Given the description of an element on the screen output the (x, y) to click on. 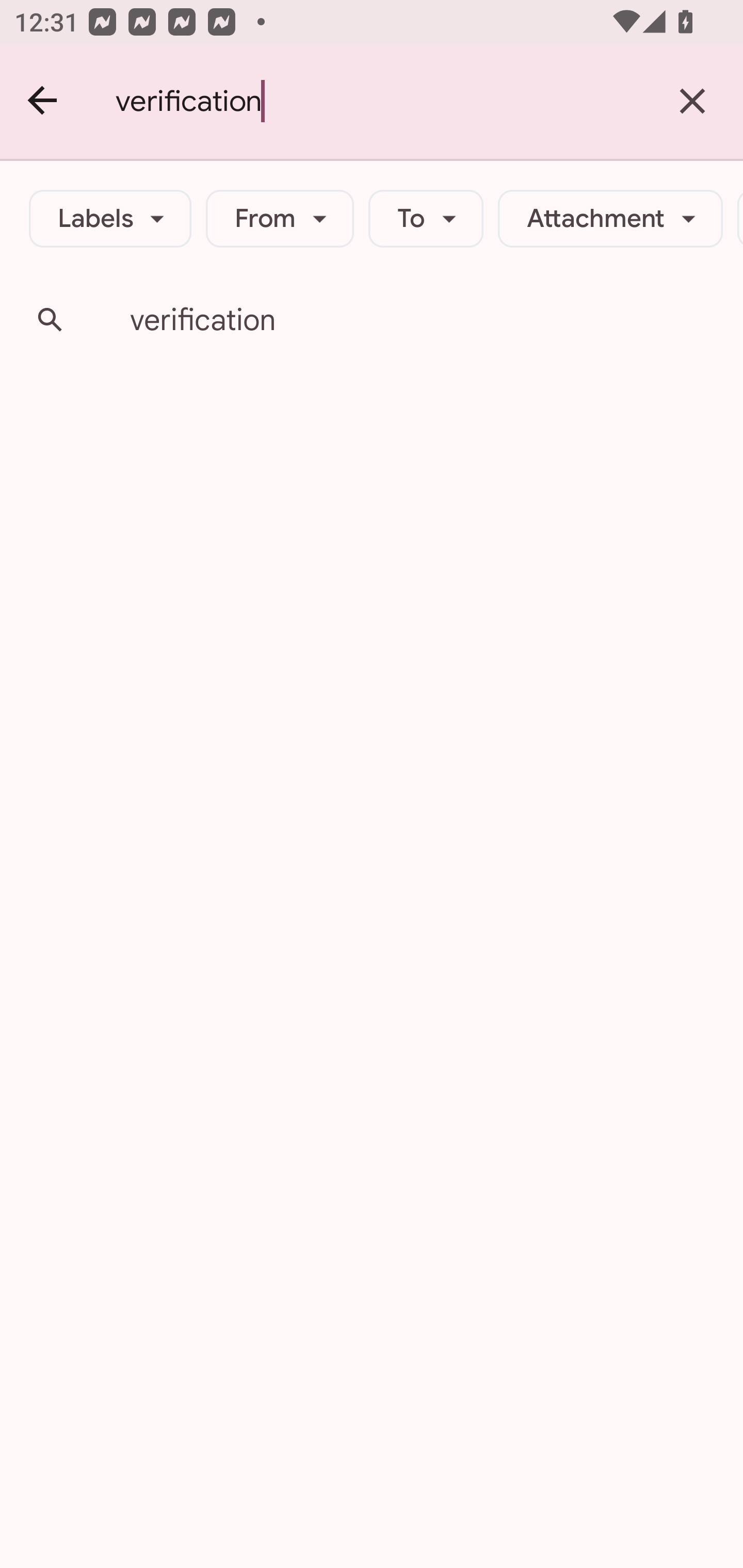
Back (43, 101)
verification (378, 101)
Clear text (692, 101)
Labels (109, 218)
From (279, 218)
To (425, 218)
Attachment (609, 218)
verification Suggestion: verification (371, 319)
